Given the description of an element on the screen output the (x, y) to click on. 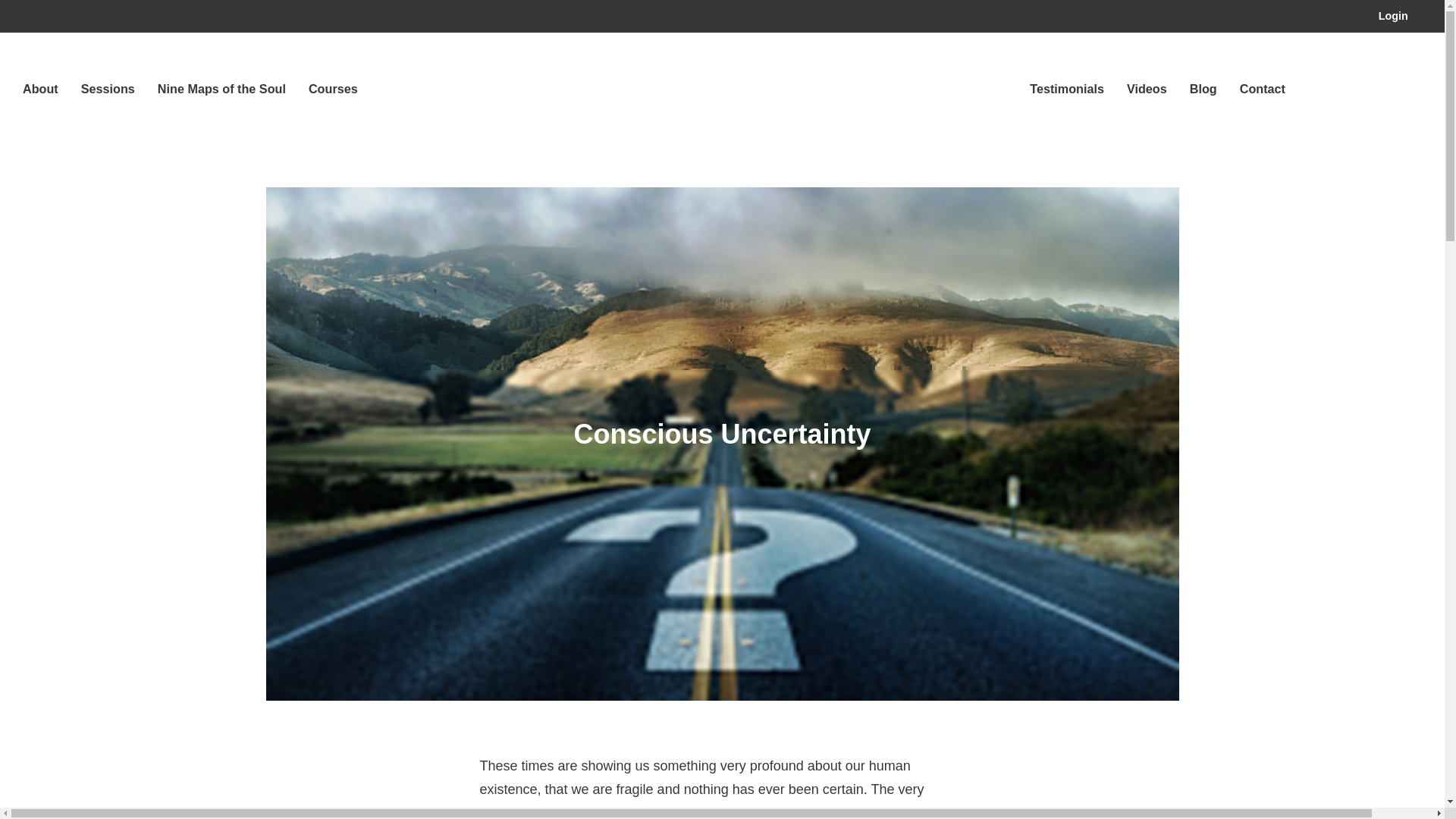
Sessions (108, 88)
Login (1393, 16)
Contact (1262, 88)
The Inner Bridge (721, 94)
Blog (1203, 88)
About (40, 88)
Testimonials (1066, 88)
Courses (333, 88)
Nine Maps of the Soul (221, 88)
Videos (1146, 88)
